Given the description of an element on the screen output the (x, y) to click on. 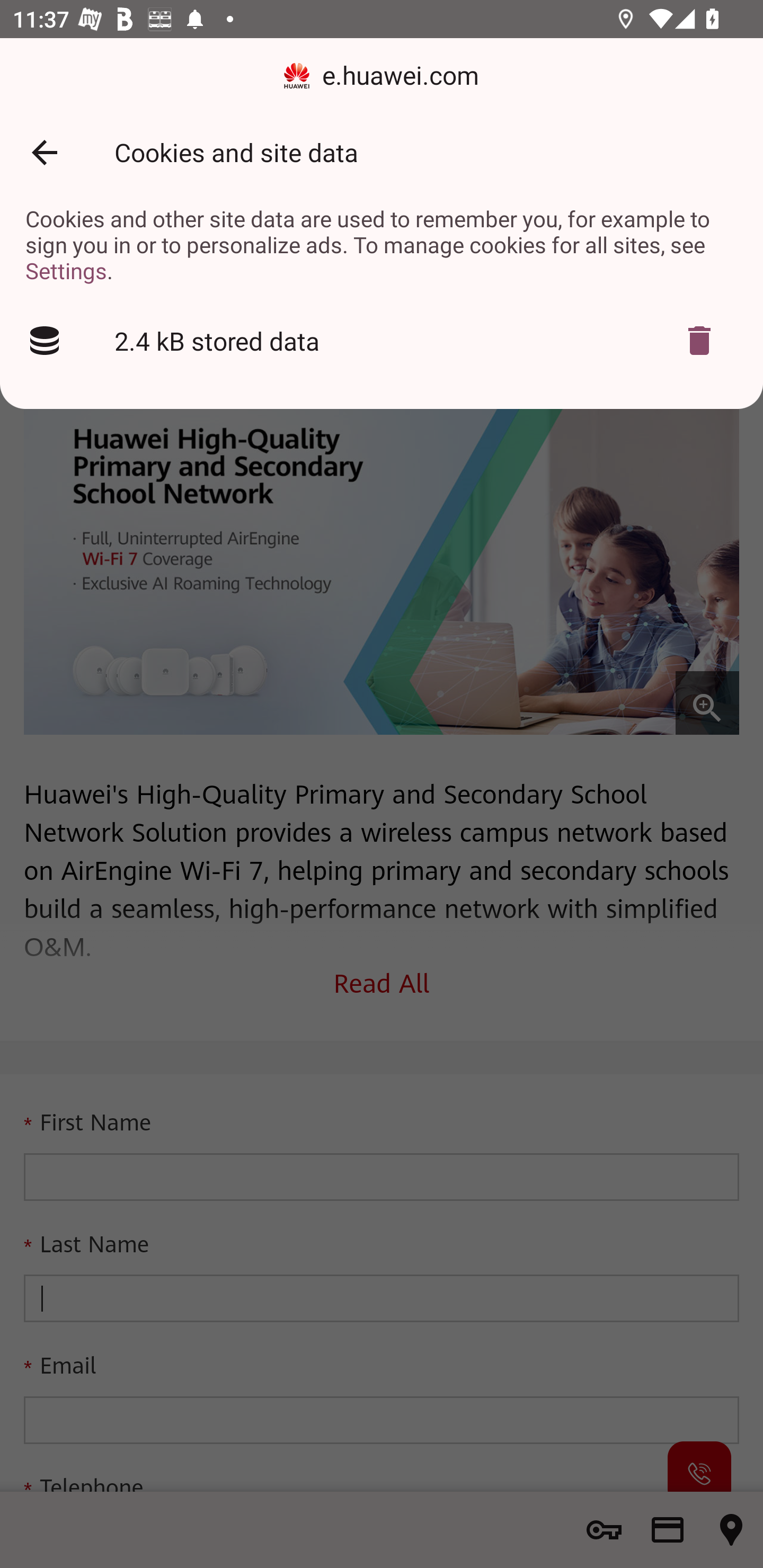
e.huawei.com (381, 75)
Back (44, 152)
2.4 kB stored data Delete cookies? (381, 340)
